Given the description of an element on the screen output the (x, y) to click on. 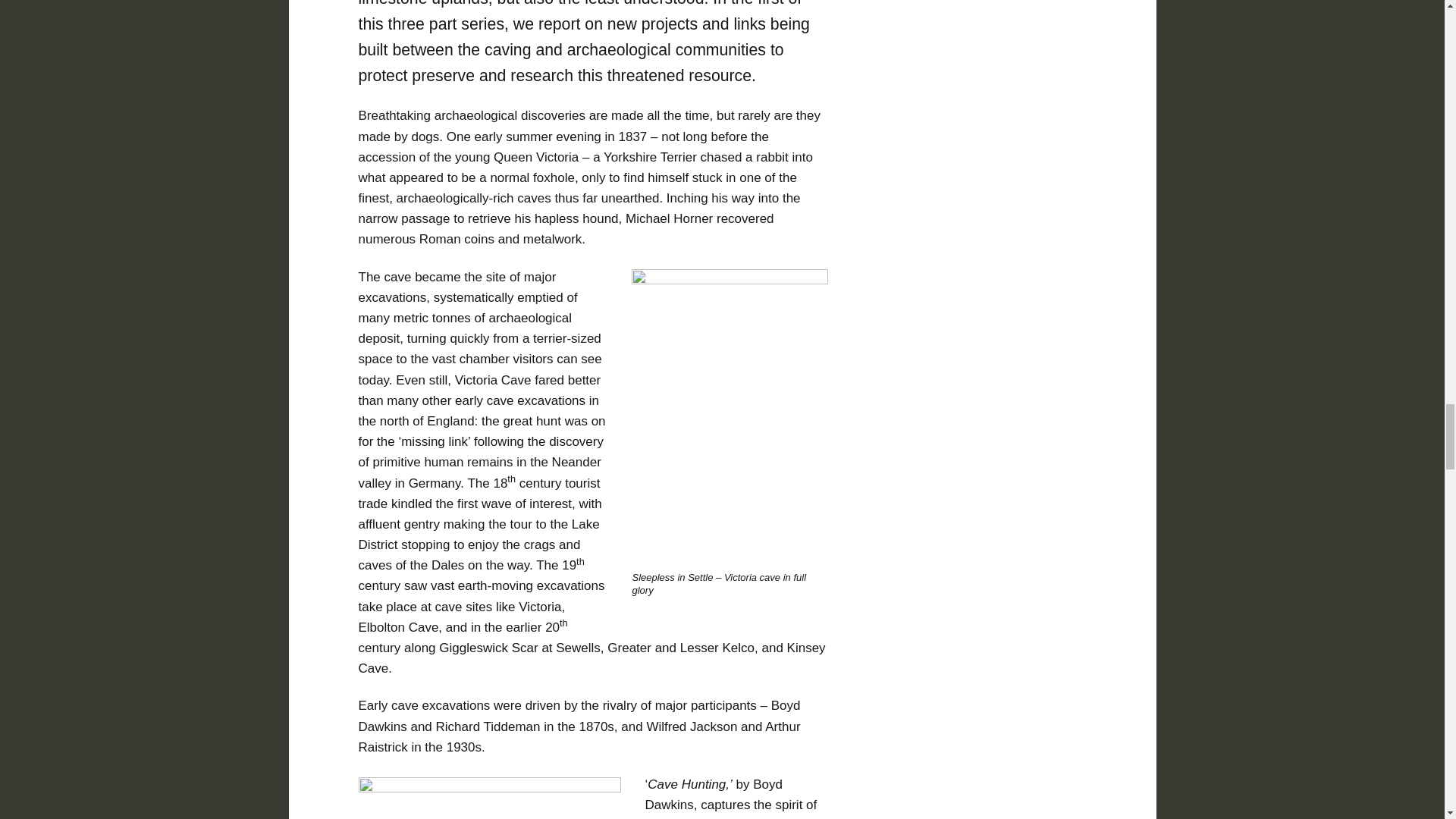
Elbolton Cave - Antiquarian Investigation (489, 798)
